Given the description of an element on the screen output the (x, y) to click on. 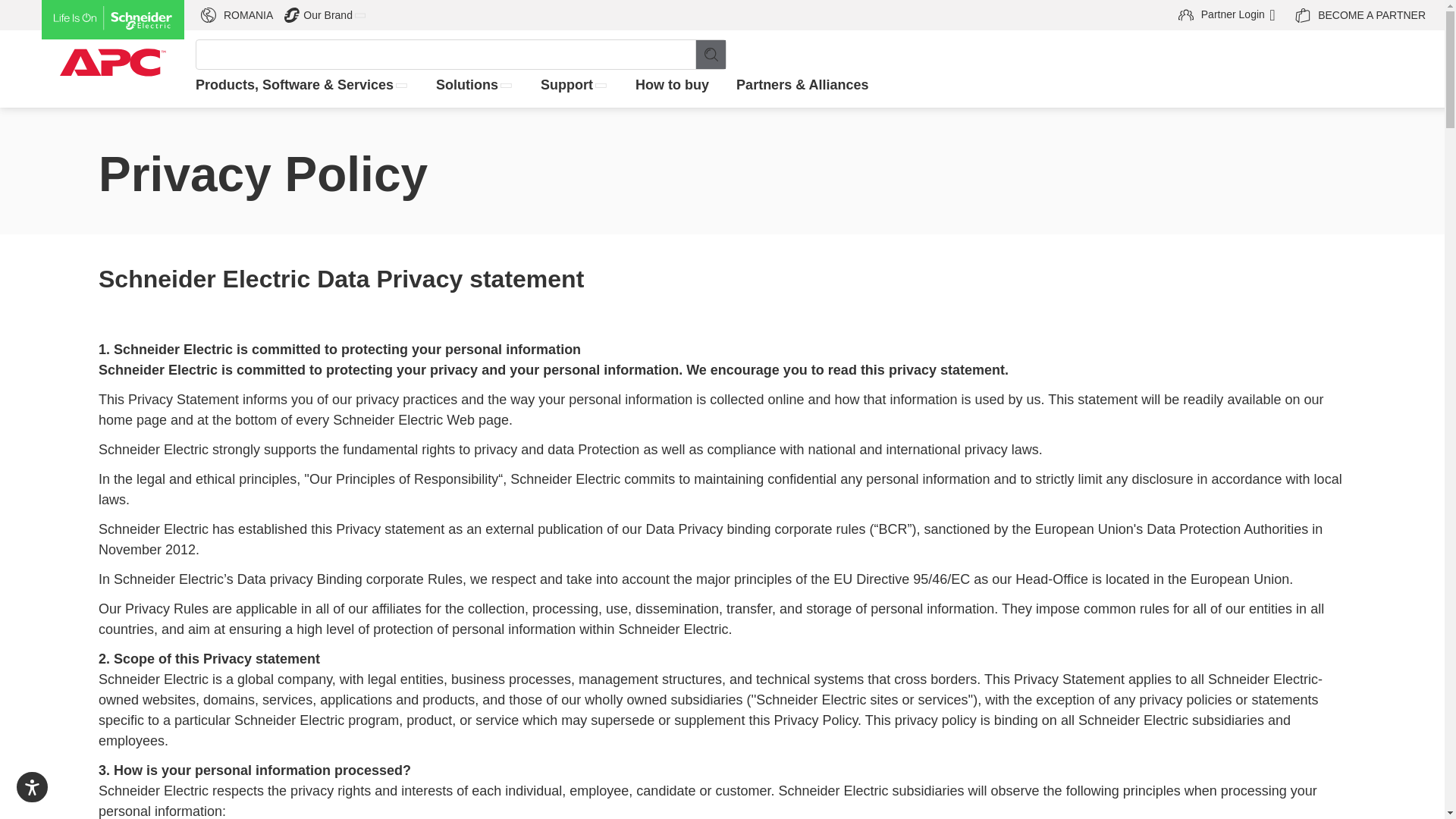
Support (1356, 15)
Solutions (574, 84)
How to buy (474, 84)
APC logo (1228, 15)
Our Brand (671, 84)
Search (113, 51)
Search (326, 15)
ROMANIA (710, 54)
Skip To Main Content (710, 54)
Reset (240, 15)
SE logo LIO white header (5, 2)
